Given the description of an element on the screen output the (x, y) to click on. 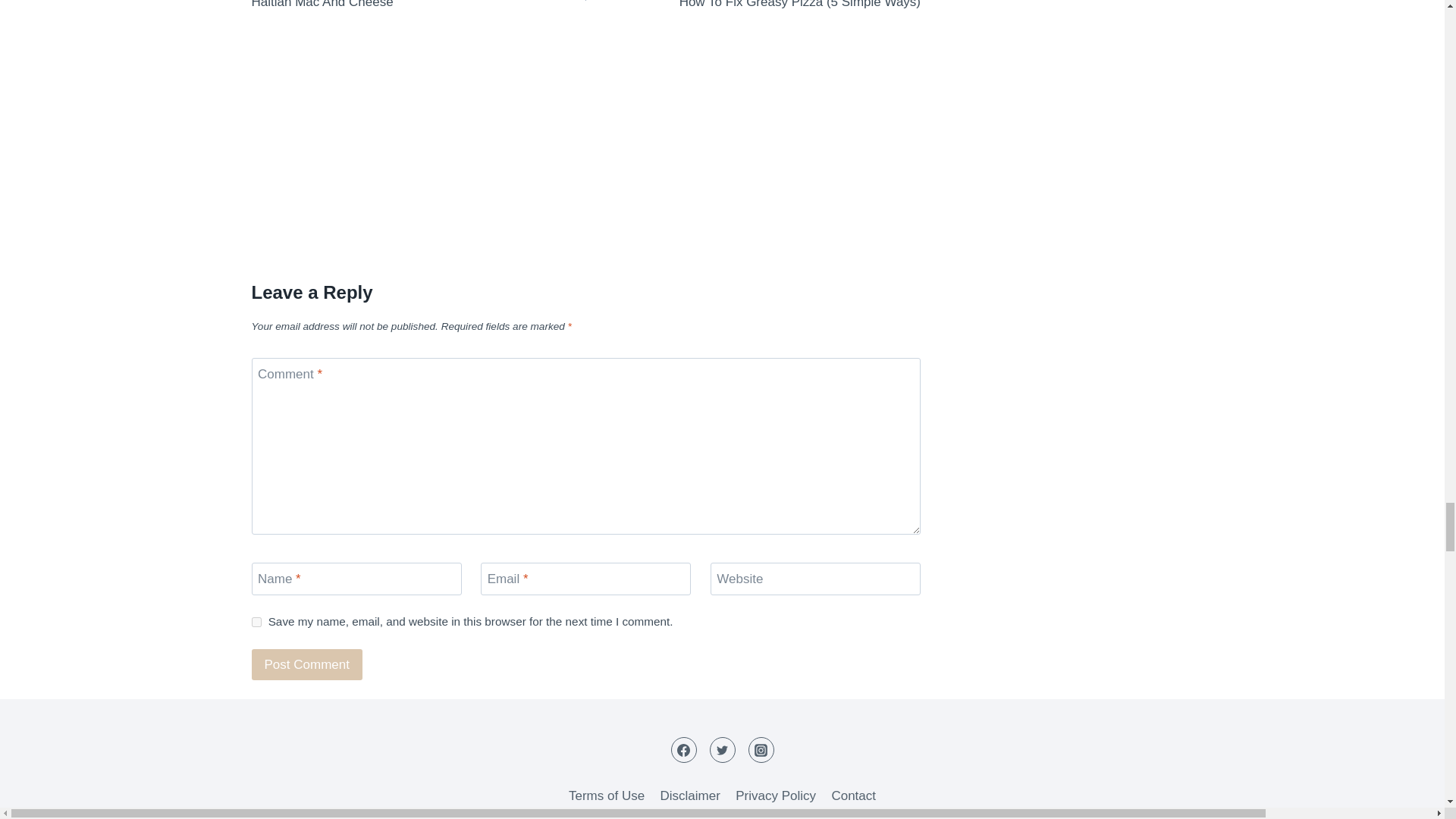
Post Comment (306, 664)
yes (256, 622)
